Given the description of an element on the screen output the (x, y) to click on. 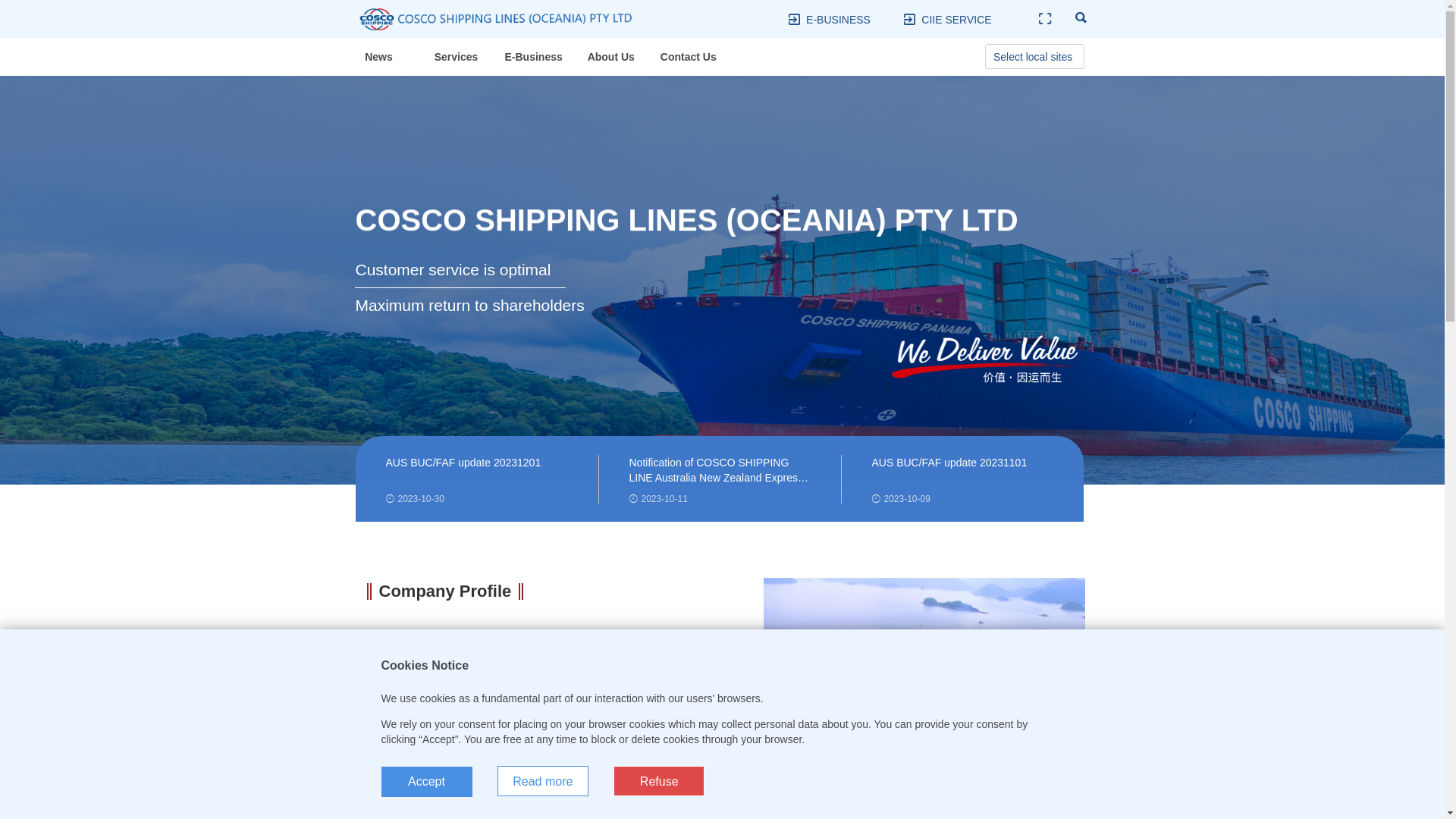
More... Element type: text (392, 783)
AUS BUC/FAF update 20231201 Element type: text (476, 470)
CIIE SERVICE Element type: text (956, 19)
E-BUSINESS Element type: text (838, 19)
AUS BUC/FAF update 20231101 Element type: text (963, 470)
